Given the description of an element on the screen output the (x, y) to click on. 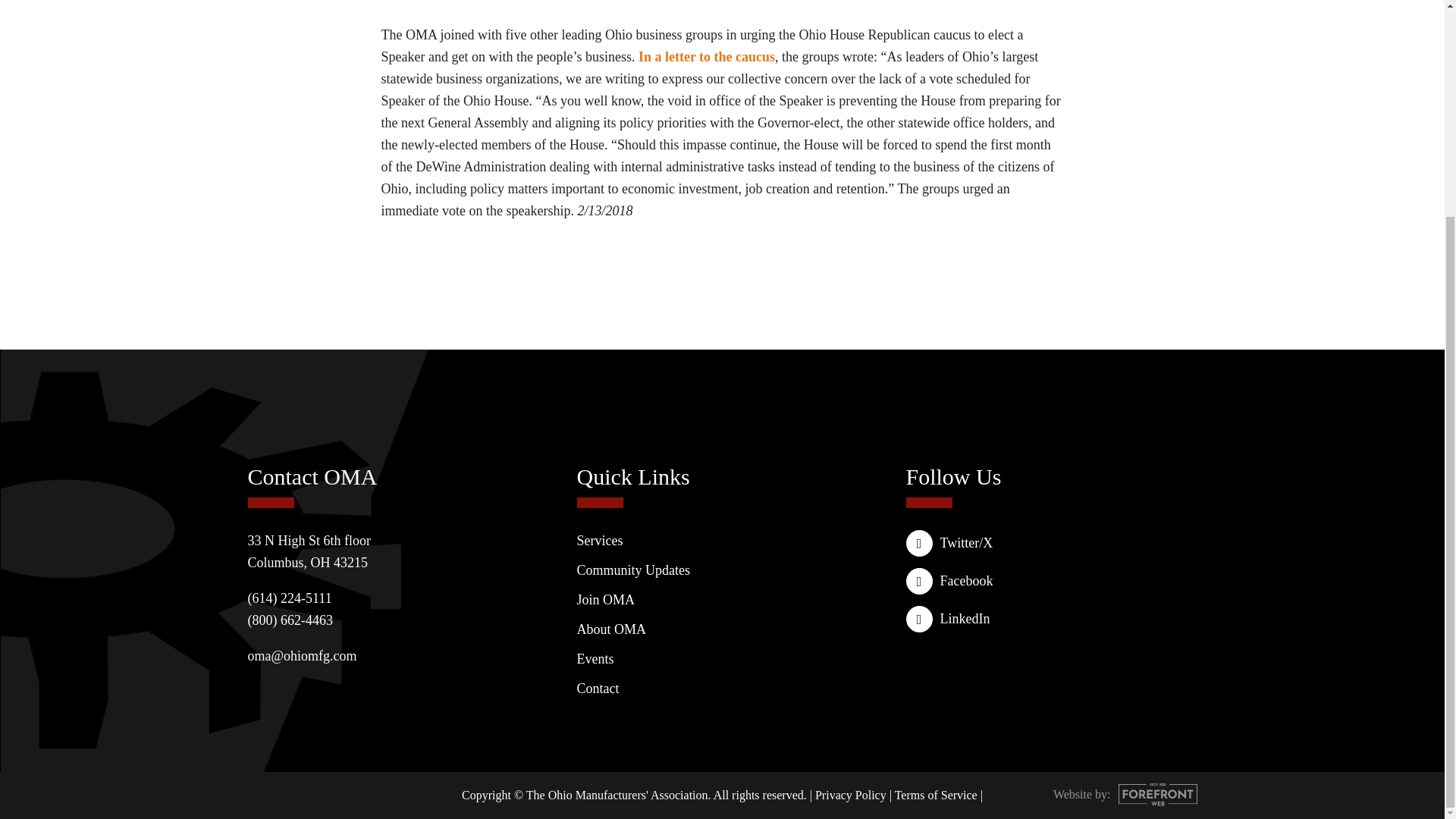
Call Us (289, 598)
Call Us (289, 620)
In a letter to the caucus (706, 56)
View on Google Maps (309, 551)
Facebook (1050, 581)
LinkedIn (1050, 619)
